Given the description of an element on the screen output the (x, y) to click on. 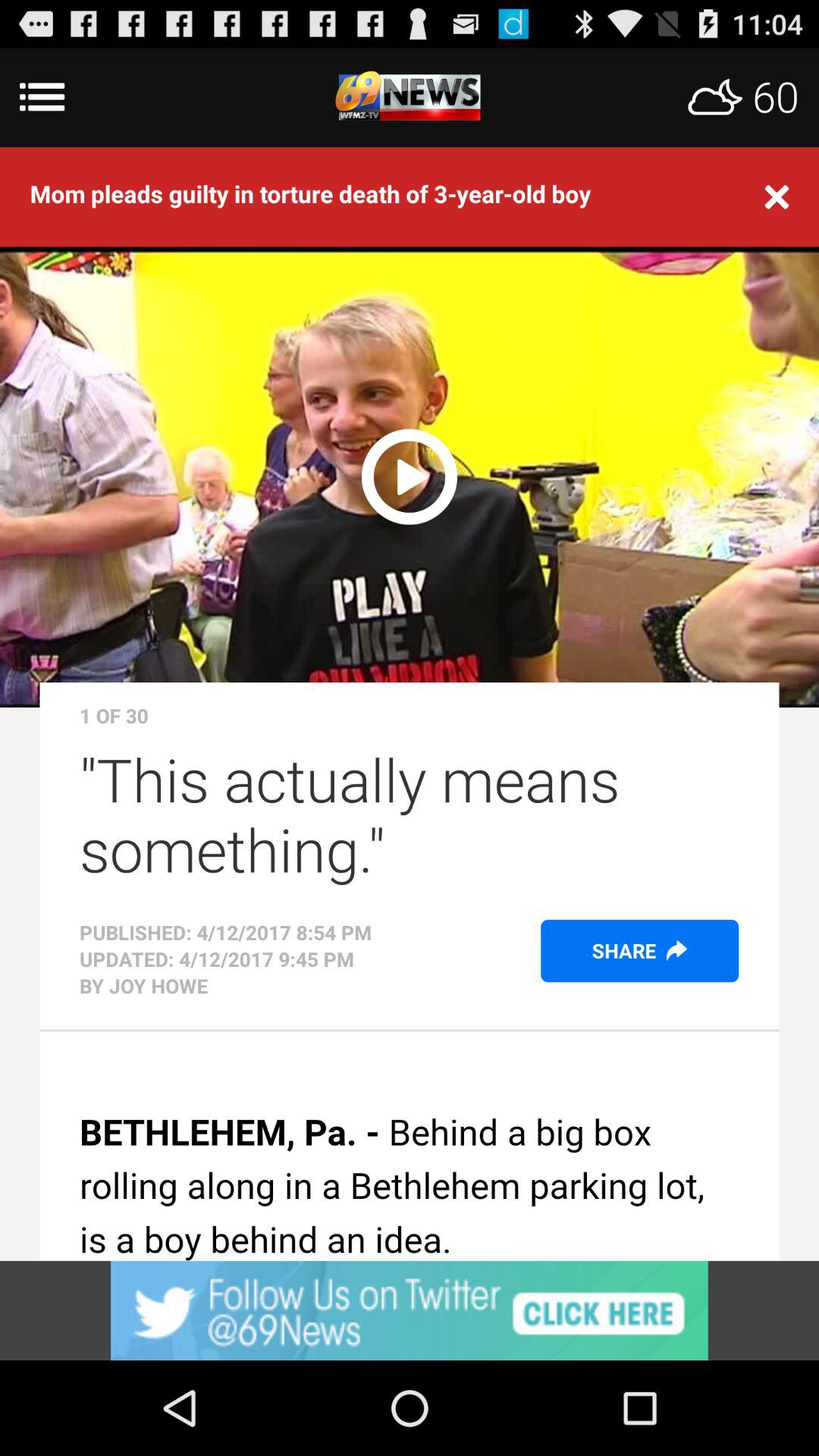
open advertisement (409, 1310)
